Given the description of an element on the screen output the (x, y) to click on. 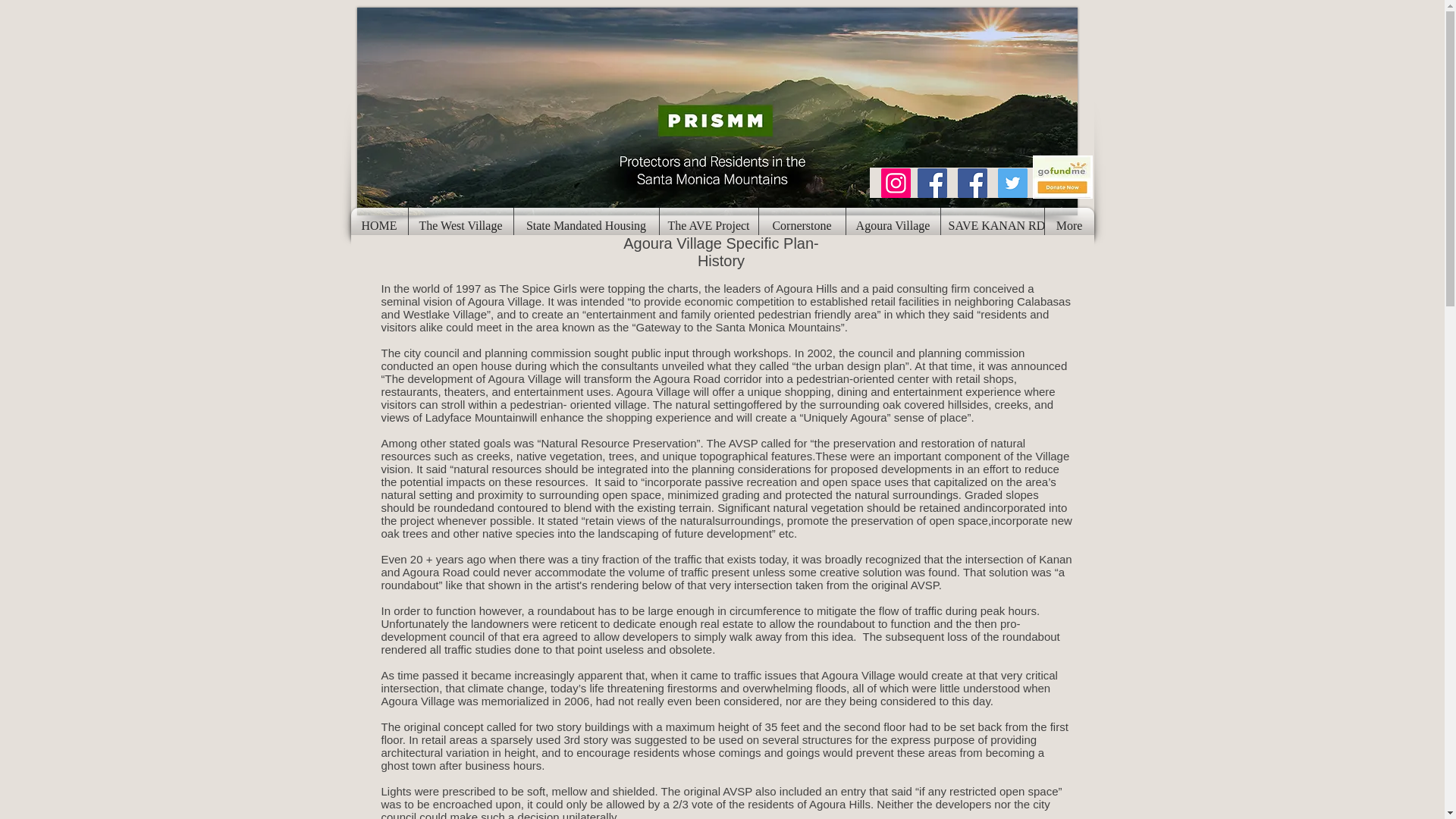
The West Village (459, 226)
State Mandated Housing (586, 226)
Cornerstone (801, 226)
Agoura Village (892, 226)
HOME (378, 226)
SAVE KANAN RD (991, 226)
The AVE Project (708, 226)
